Given the description of an element on the screen output the (x, y) to click on. 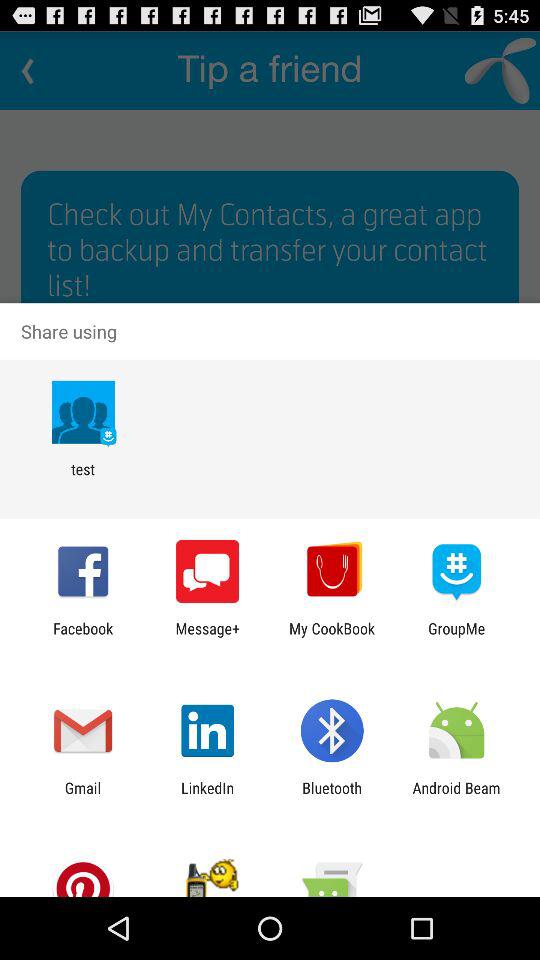
choose the icon next to the groupme icon (331, 637)
